Given the description of an element on the screen output the (x, y) to click on. 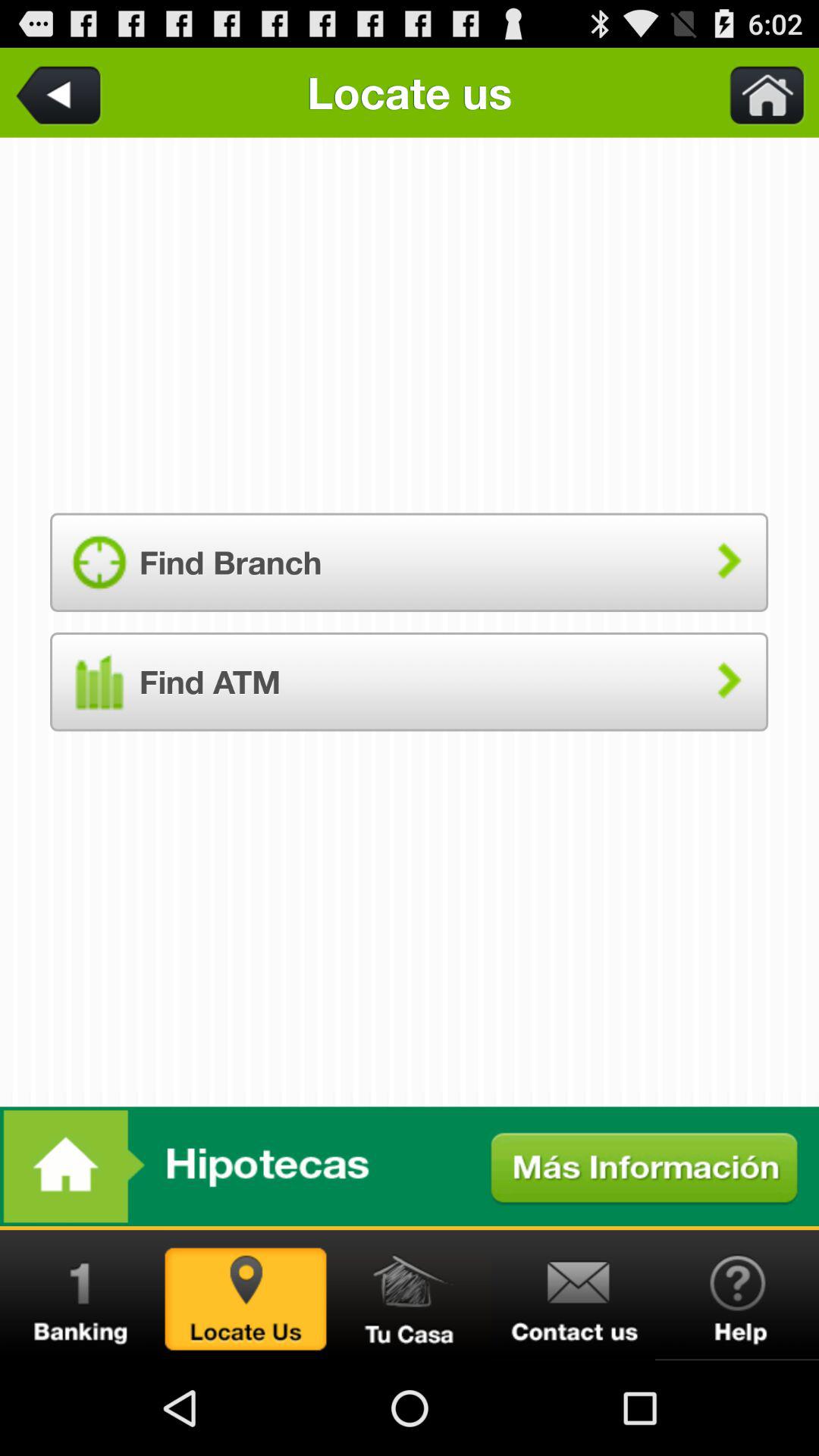
go to home (409, 1166)
